Given the description of an element on the screen output the (x, y) to click on. 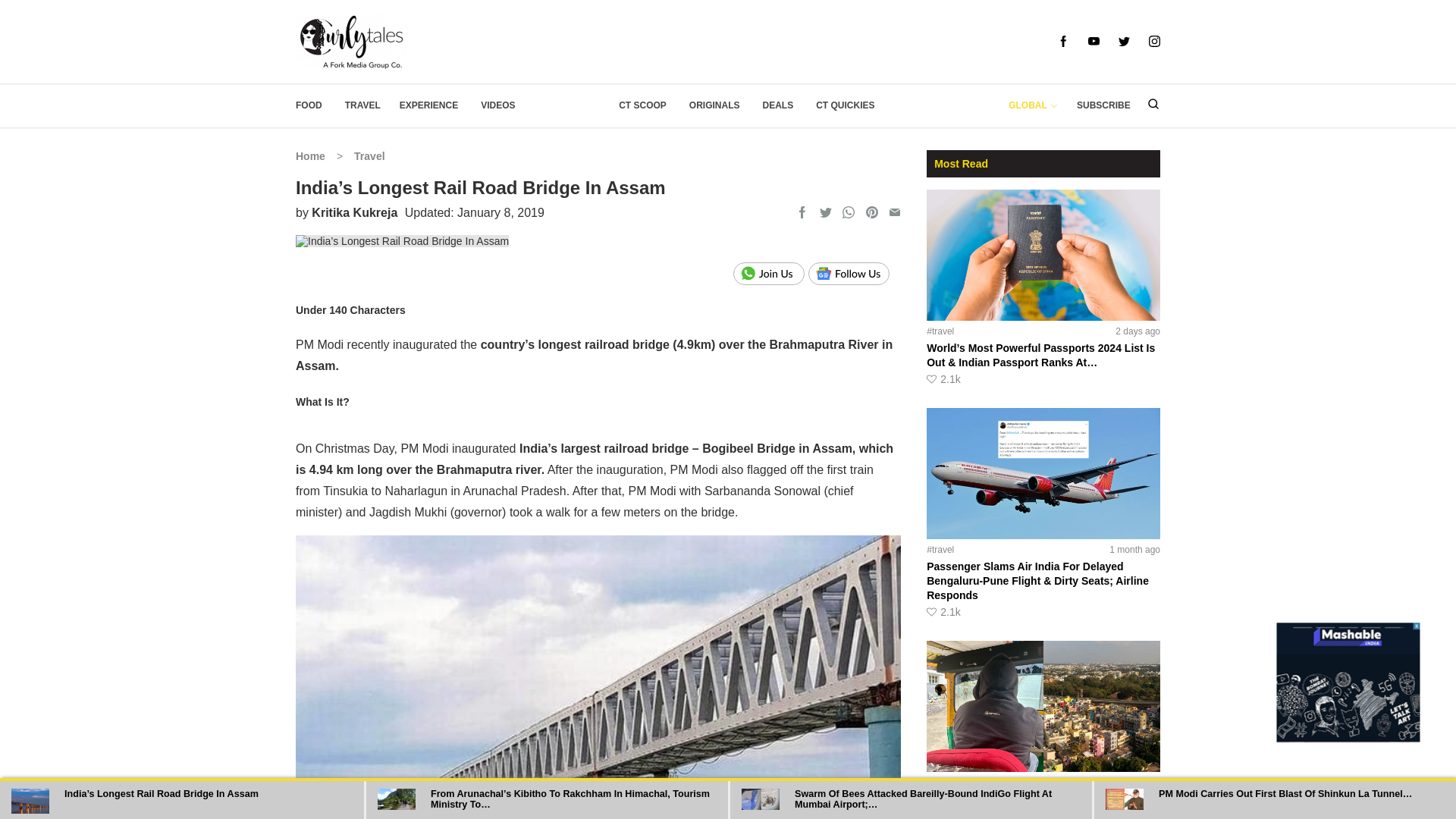
FOOD (308, 105)
